Given the description of an element on the screen output the (x, y) to click on. 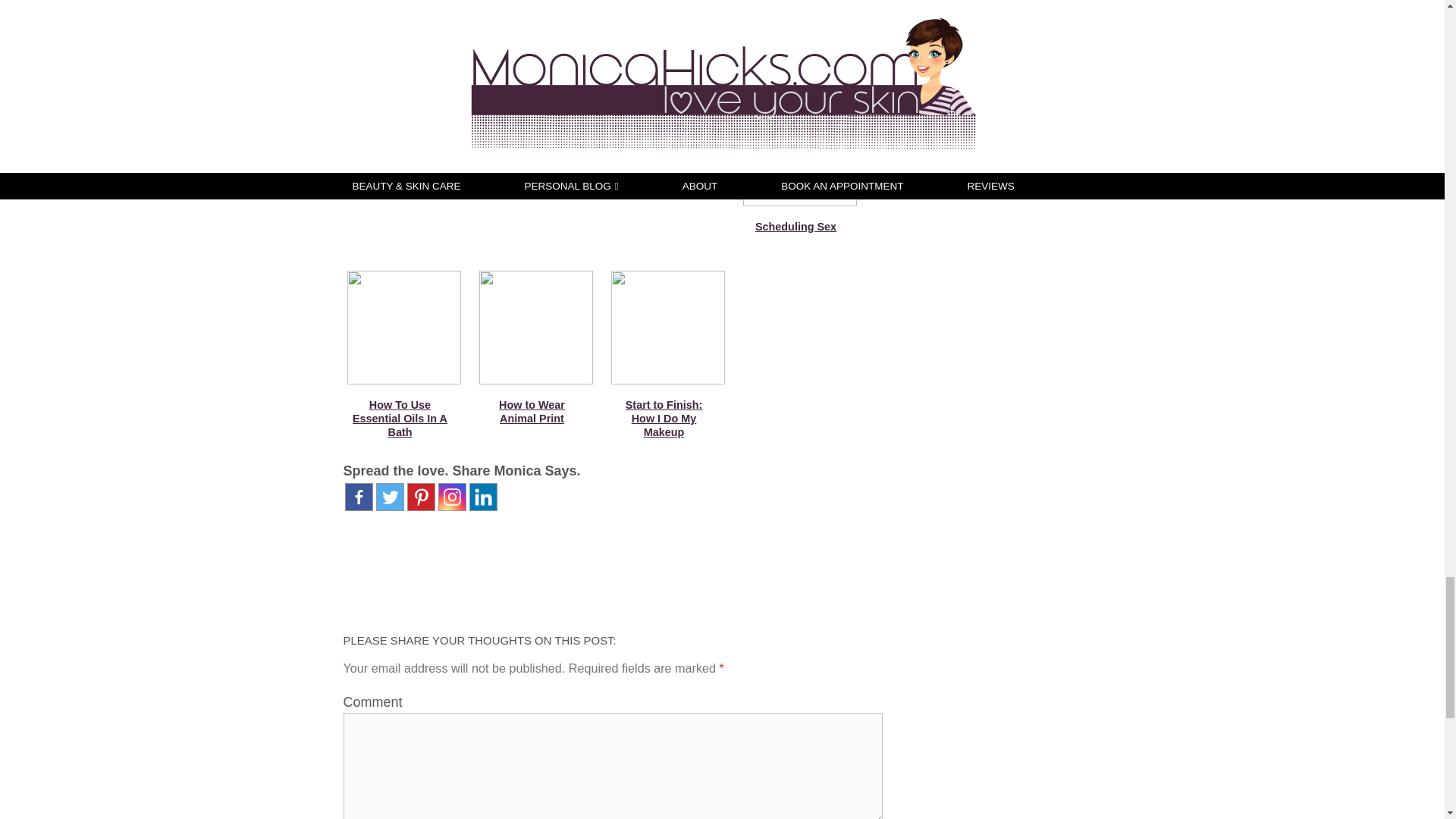
7 Time Saving Tips for Moms (399, 41)
How to Delegate Chores to Your Children (663, 47)
Pinterest (419, 497)
Start to Finish: How I Do My Makeup (664, 418)
Twitter (389, 497)
Scheduling Sex (795, 226)
Facebook (357, 497)
LinkedIn (482, 497)
How to Wear Animal Print (531, 411)
How To Use Essential Oils In A Bath (399, 418)
